Given the description of an element on the screen output the (x, y) to click on. 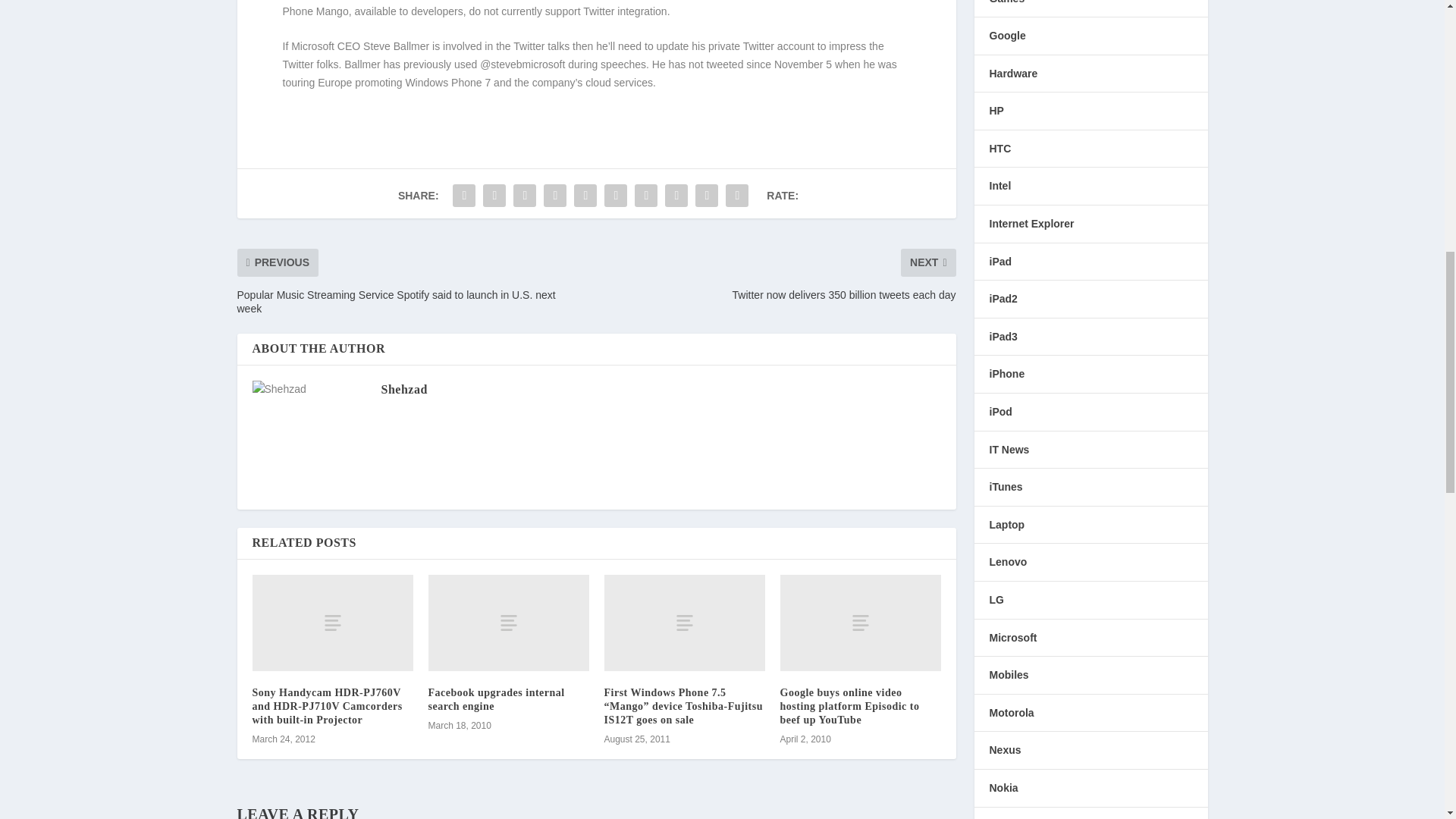
Shehzad (403, 389)
Facebook upgrades internal search engine (496, 699)
View all posts by Shehzad (403, 389)
